Given the description of an element on the screen output the (x, y) to click on. 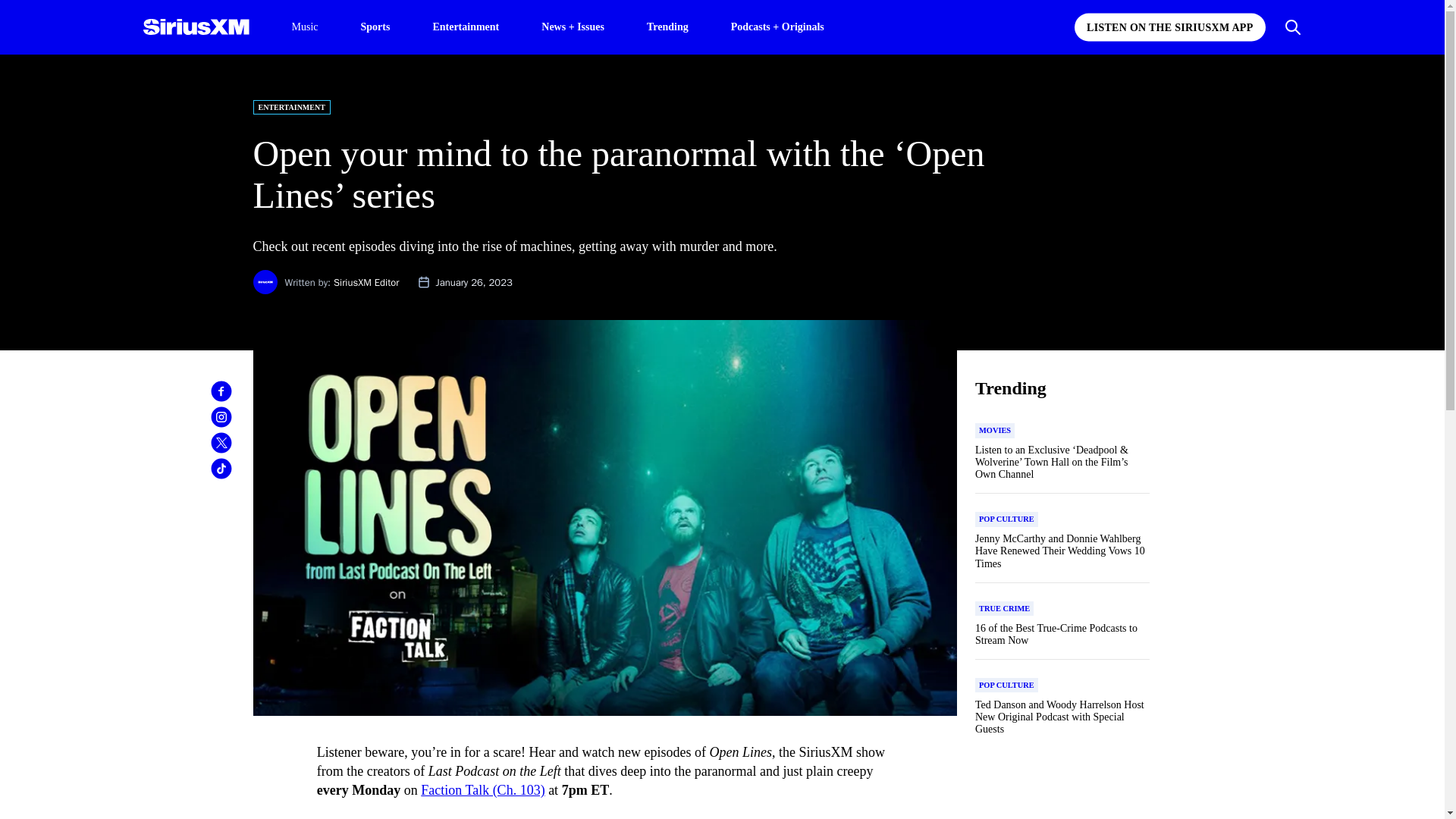
SiriusXM Editor (365, 282)
Trending (667, 26)
MOVIES (994, 430)
Music (304, 26)
ENTERTAINMENT (291, 106)
LISTEN ON THE SIRIUSXM APP (1169, 27)
Entertainment (465, 26)
Sports (375, 26)
